Given the description of an element on the screen output the (x, y) to click on. 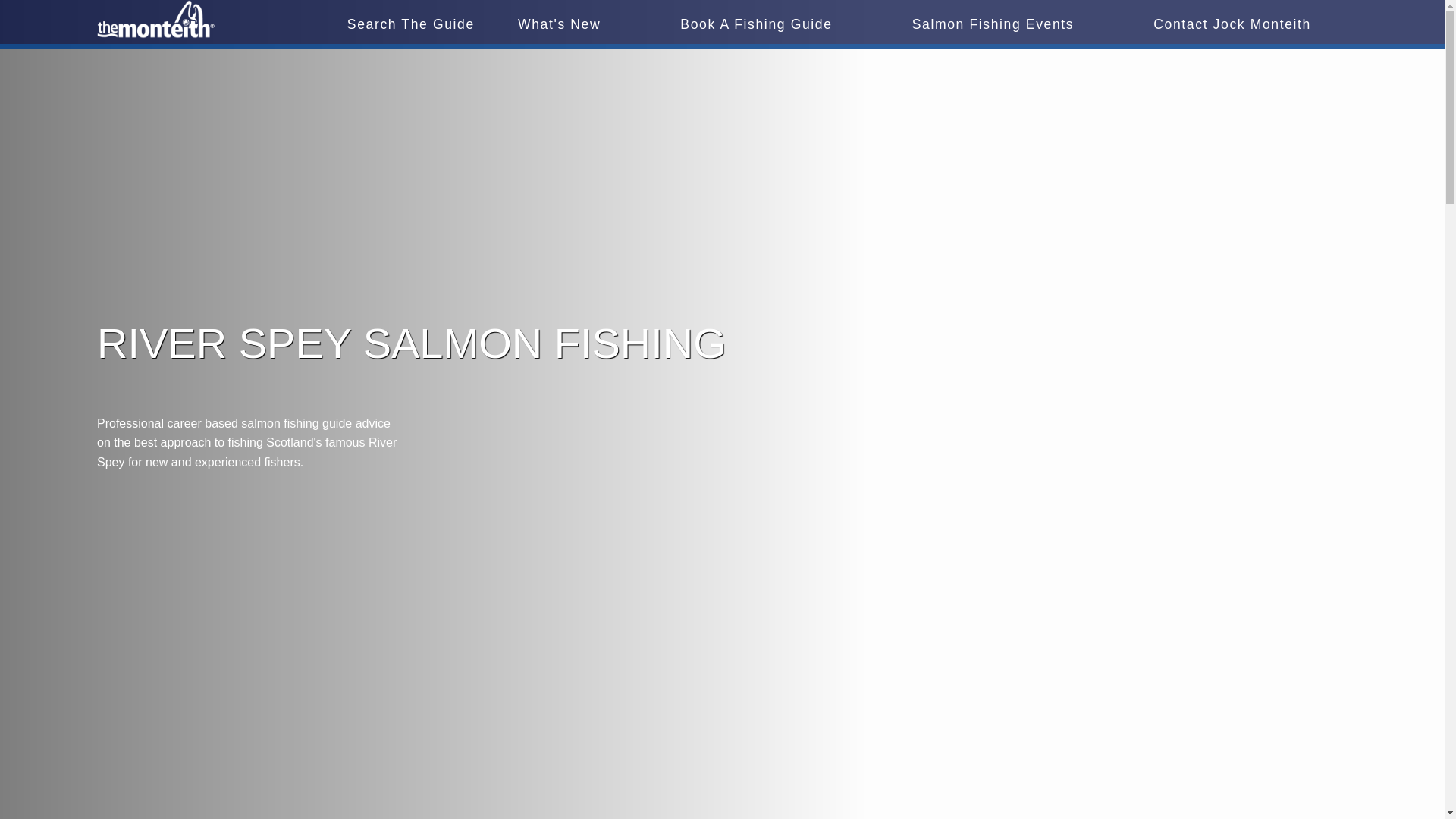
Contact Jock Monteith (1232, 23)
What's New (558, 23)
Salmon Fishing Events group hospitality (993, 23)
contact Jock Monteith (1232, 23)
Search The Guide (410, 23)
Book A Fishing Guide (755, 23)
Salmon Fishing Events (993, 23)
